Given the description of an element on the screen output the (x, y) to click on. 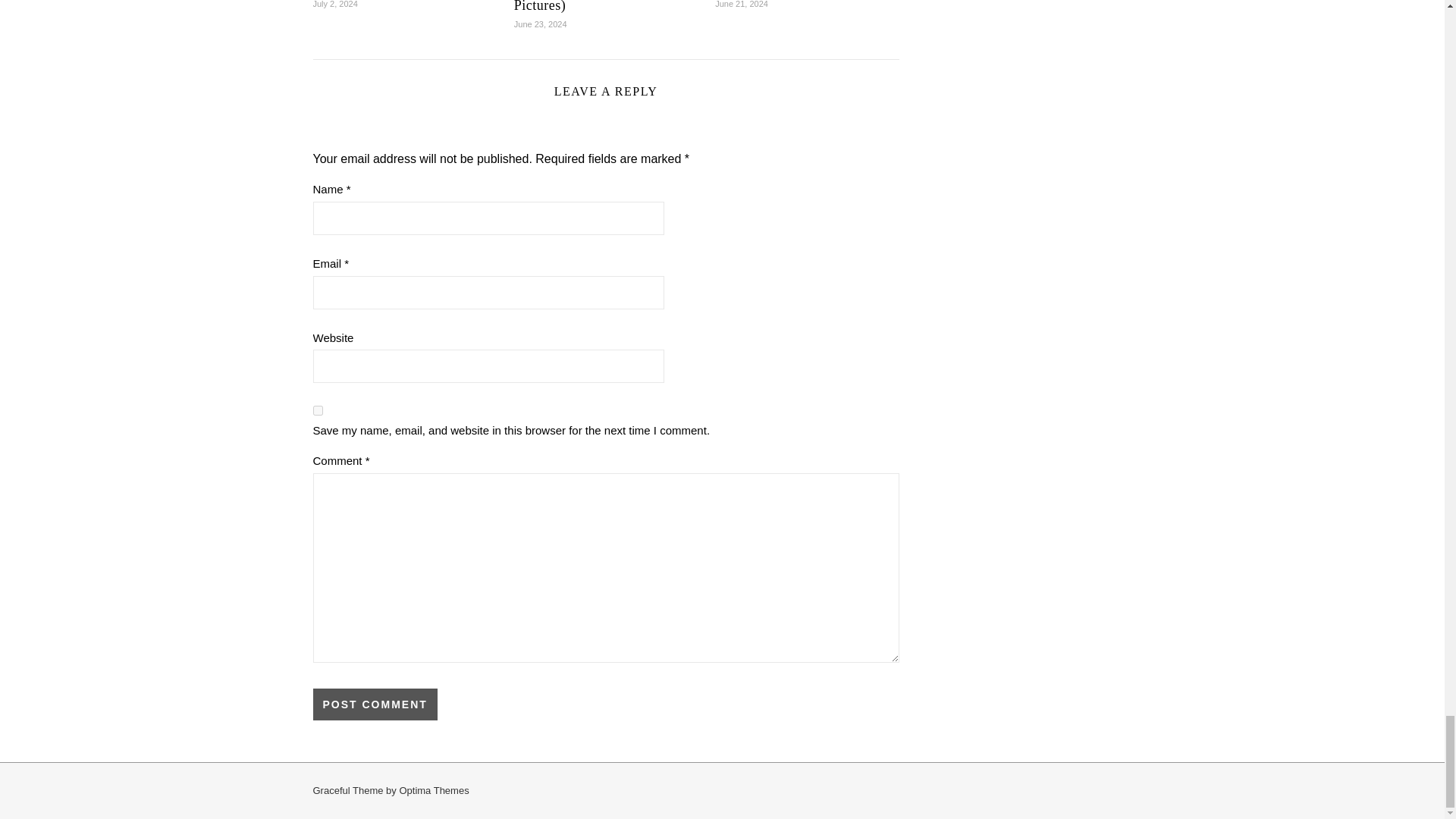
Post Comment (374, 704)
yes (317, 410)
